Given the description of an element on the screen output the (x, y) to click on. 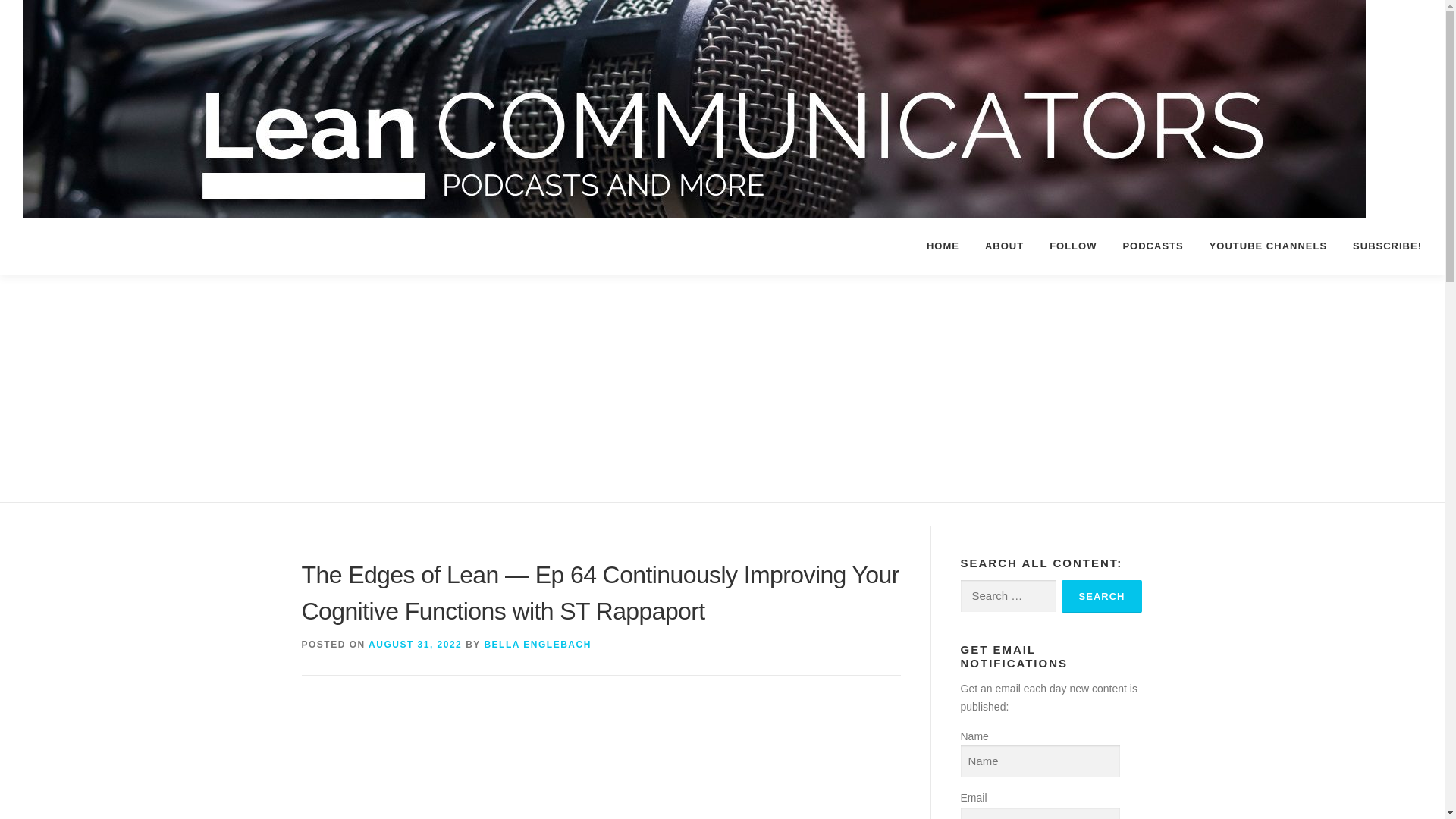
FOLLOW (1072, 245)
Search (1101, 595)
Search (1101, 595)
SUBSCRIBE! (1380, 245)
BELLA ENGLEBACH (537, 644)
HOME (943, 245)
PODCASTS (1152, 245)
AUGUST 31, 2022 (414, 644)
YOUTUBE CHANNELS (1267, 245)
ABOUT (1004, 245)
Search (1101, 595)
